Given the description of an element on the screen output the (x, y) to click on. 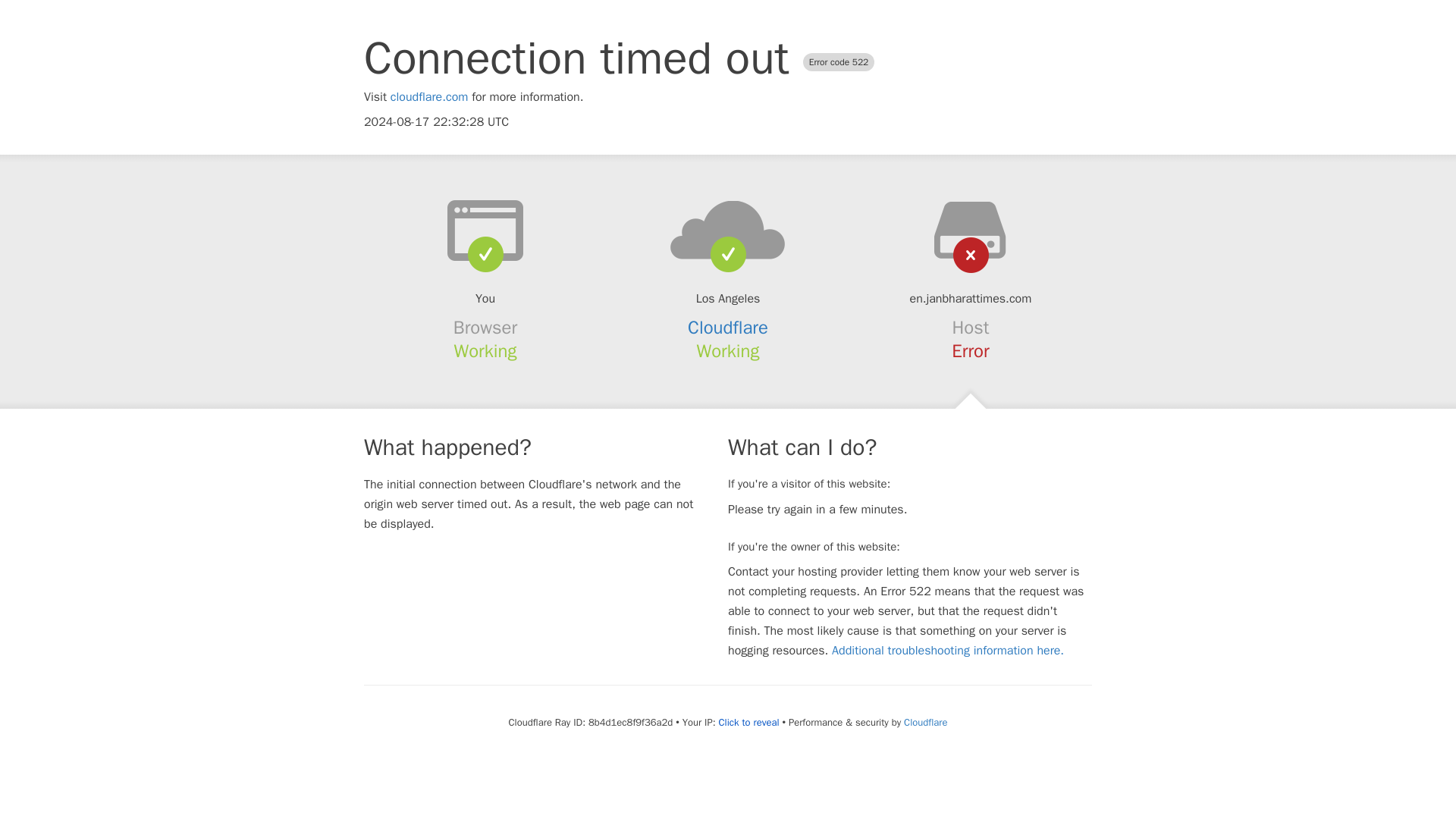
Click to reveal (748, 722)
Cloudflare (727, 327)
cloudflare.com (429, 96)
Additional troubleshooting information here. (947, 650)
Cloudflare (925, 721)
